Given the description of an element on the screen output the (x, y) to click on. 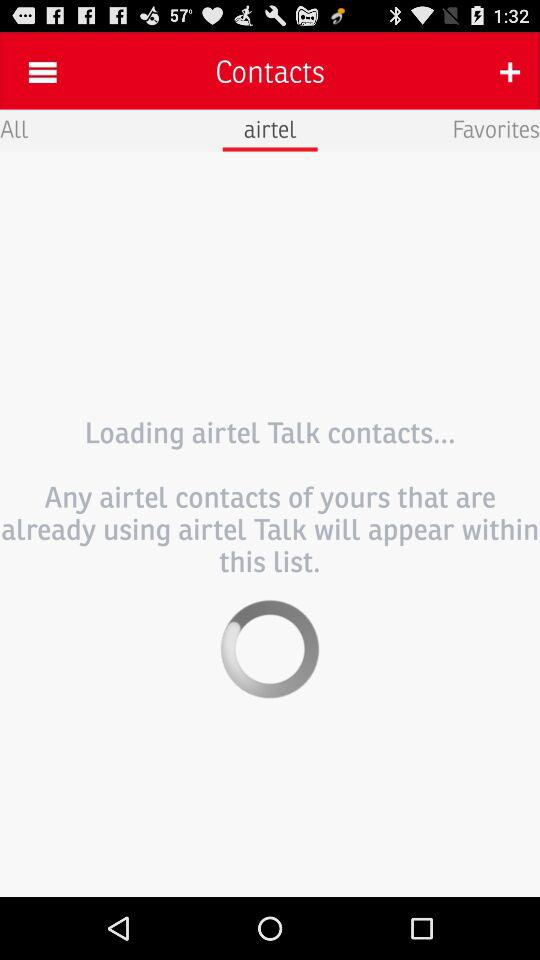
click icon above the loading airtel talk item (496, 128)
